Given the description of an element on the screen output the (x, y) to click on. 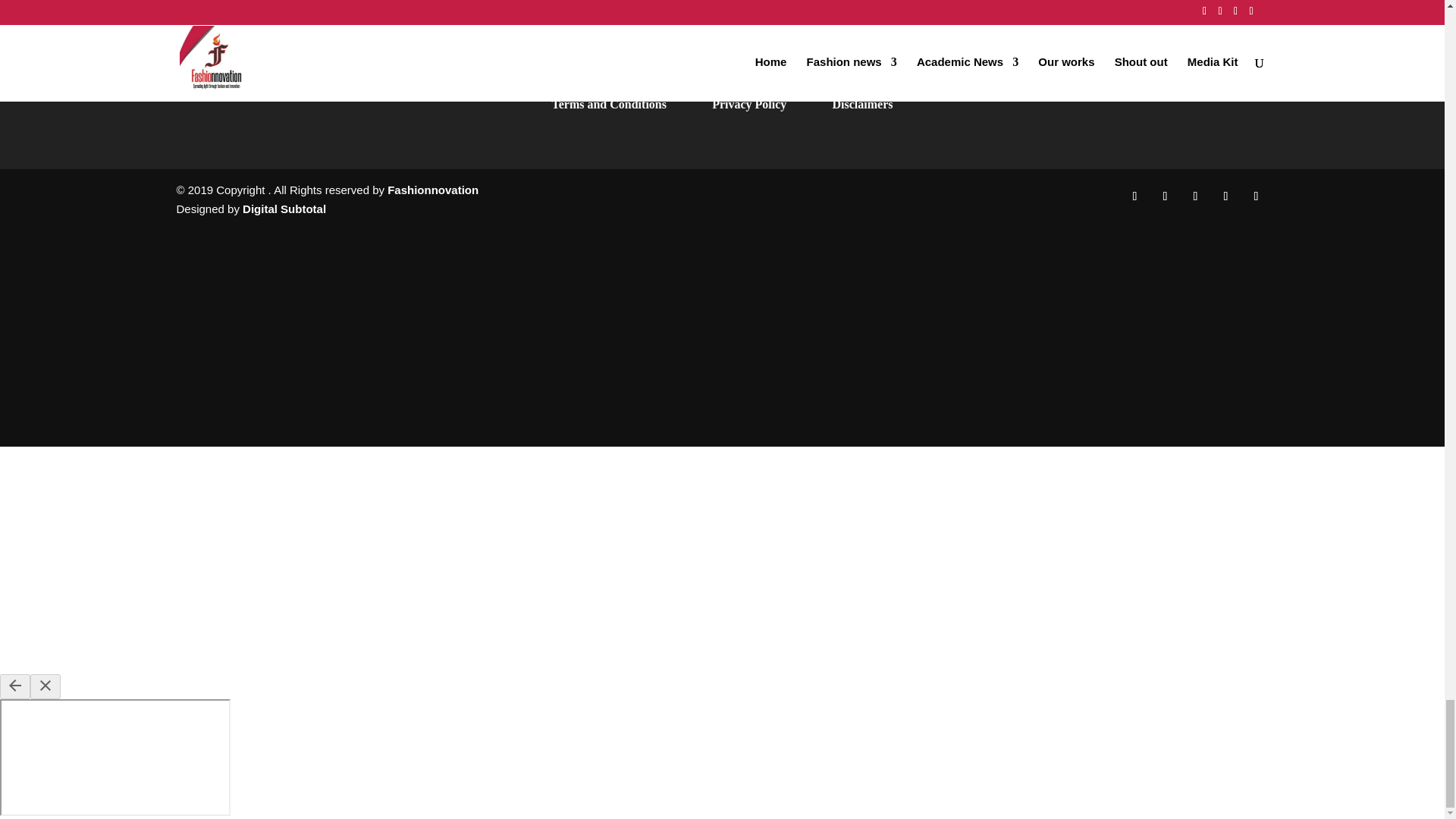
Follow on LinkedIn (1194, 196)
Follow on Instagram (1164, 196)
Follow on Pinterest (1224, 196)
Follow on Youtube (1255, 196)
Follow on Facebook (1134, 196)
